Given the description of an element on the screen output the (x, y) to click on. 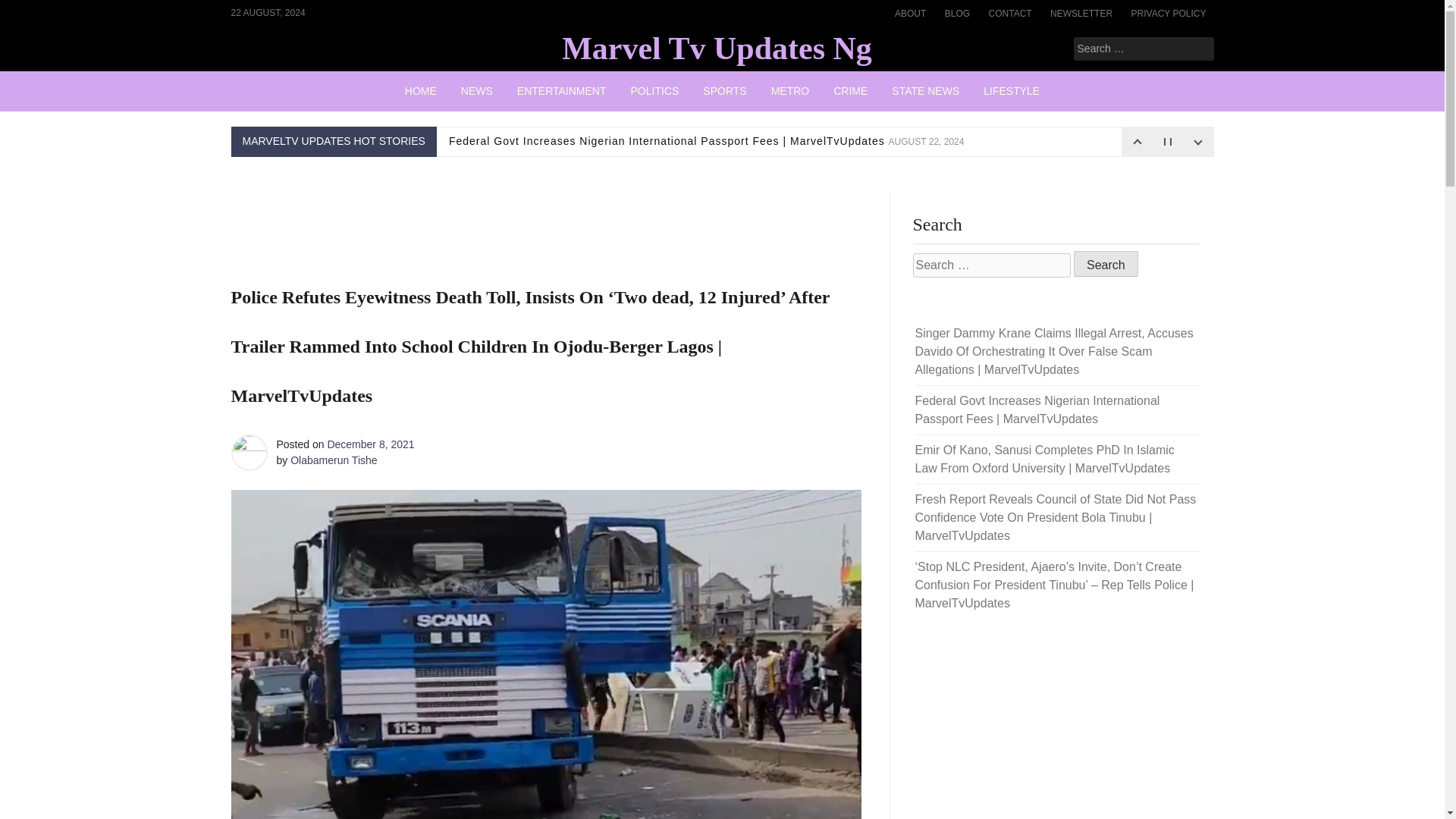
Olabamerun Tishe (333, 460)
ABOUT (909, 13)
PRIVACY POLICY (1169, 13)
HOME (420, 91)
SPORTS (724, 91)
LIFESTYLE (1011, 91)
Search (32, 12)
December 8, 2021 (369, 444)
BLOG (956, 13)
NEWS (476, 91)
